Given the description of an element on the screen output the (x, y) to click on. 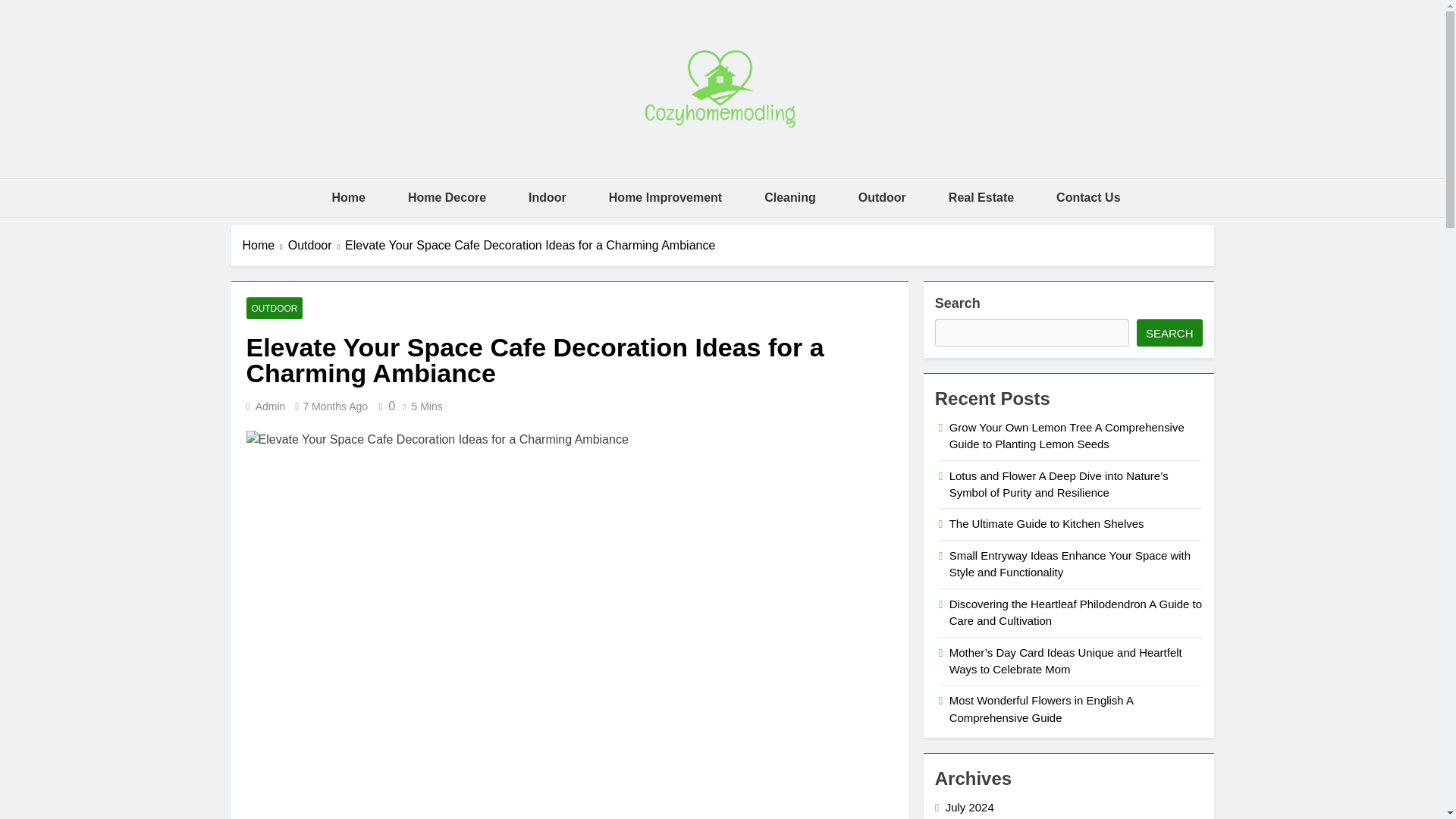
Cleaning (790, 198)
Real Estate (980, 198)
Outdoor (882, 198)
Indoor (547, 198)
Contact Us (1088, 198)
Home Decore (446, 198)
Home (347, 198)
Home Improvement (665, 198)
